Given the description of an element on the screen output the (x, y) to click on. 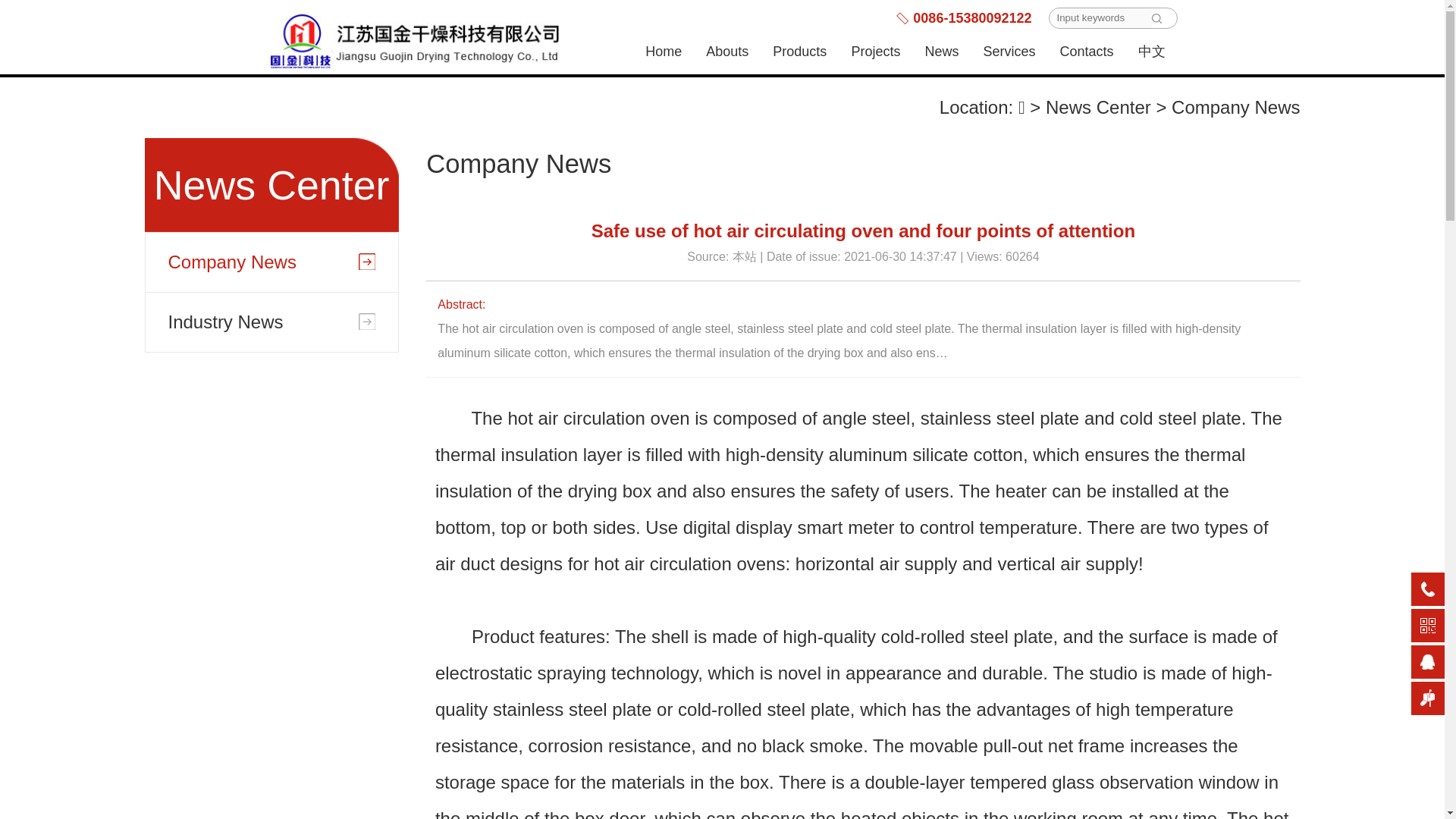
Contacts (1085, 51)
Projects (875, 51)
News (941, 51)
Abouts (727, 51)
Home (663, 51)
Products (799, 51)
Services (1008, 51)
